Given the description of an element on the screen output the (x, y) to click on. 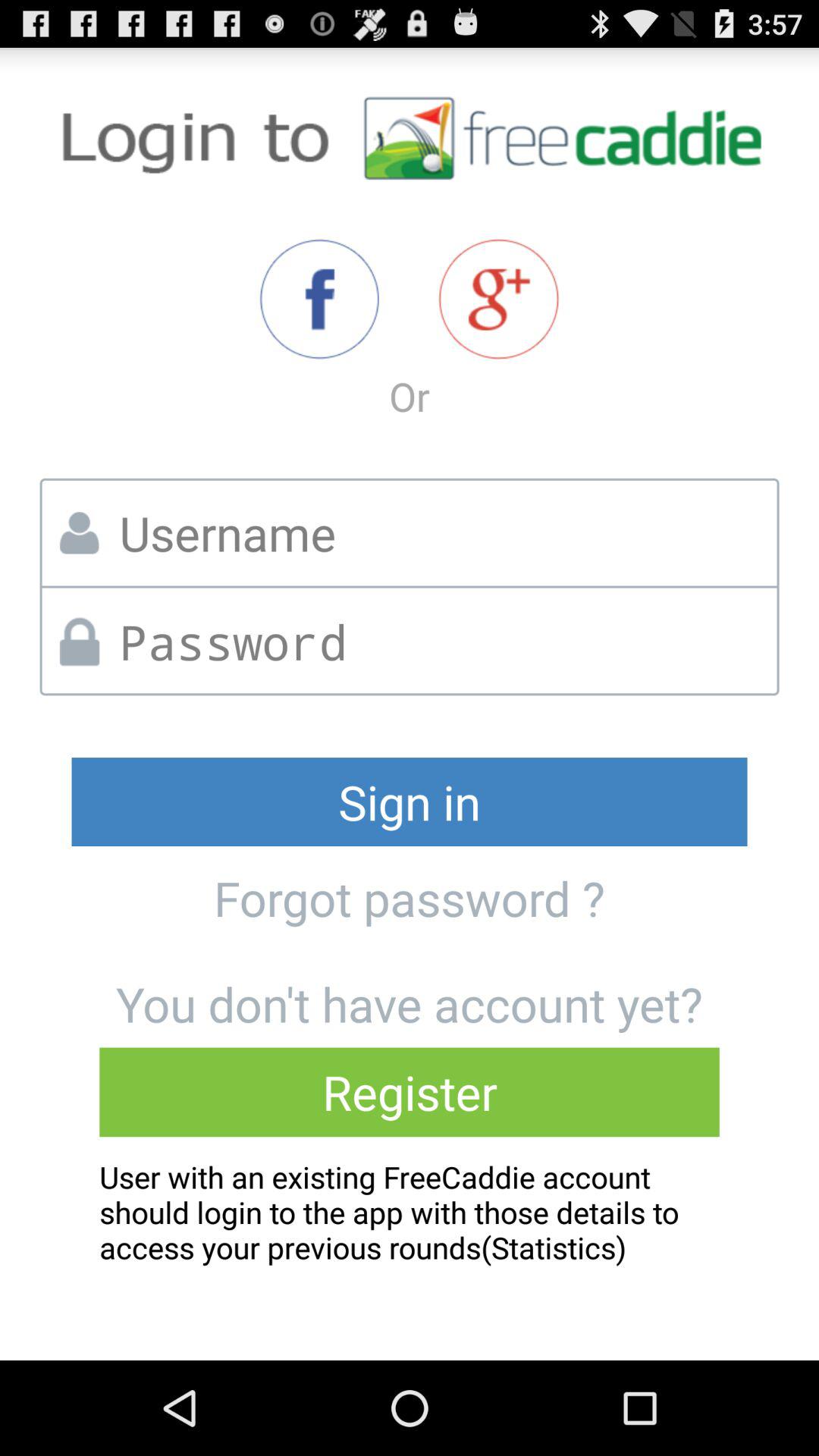
click item above the or icon (318, 298)
